Given the description of an element on the screen output the (x, y) to click on. 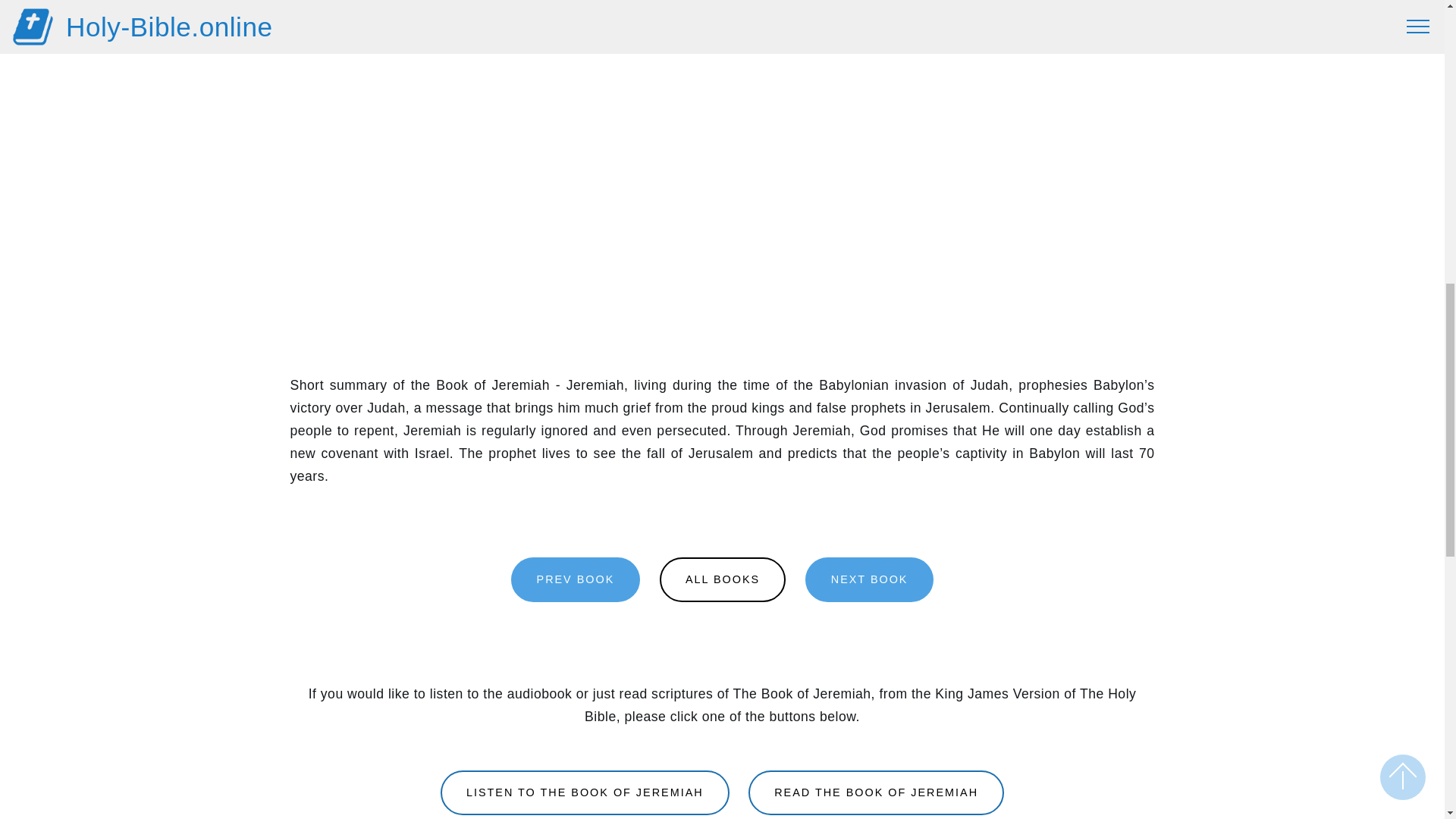
ALL BOOKS (722, 579)
NEXT BOOK (869, 579)
Go to the list of all Books (722, 579)
READ THE BOOK OF JEREMIAH (876, 792)
Listen to audiobook of the Book of Jeremiah, KJV (585, 792)
Read the scriptures of the Book of Jeremiah, KJV (876, 792)
LISTEN TO THE BOOK OF JEREMIAH (585, 792)
PREV BOOK (575, 579)
Listen to The Book of Lamentations (869, 579)
Listen to The Book of Isaiah (575, 579)
